Given the description of an element on the screen output the (x, y) to click on. 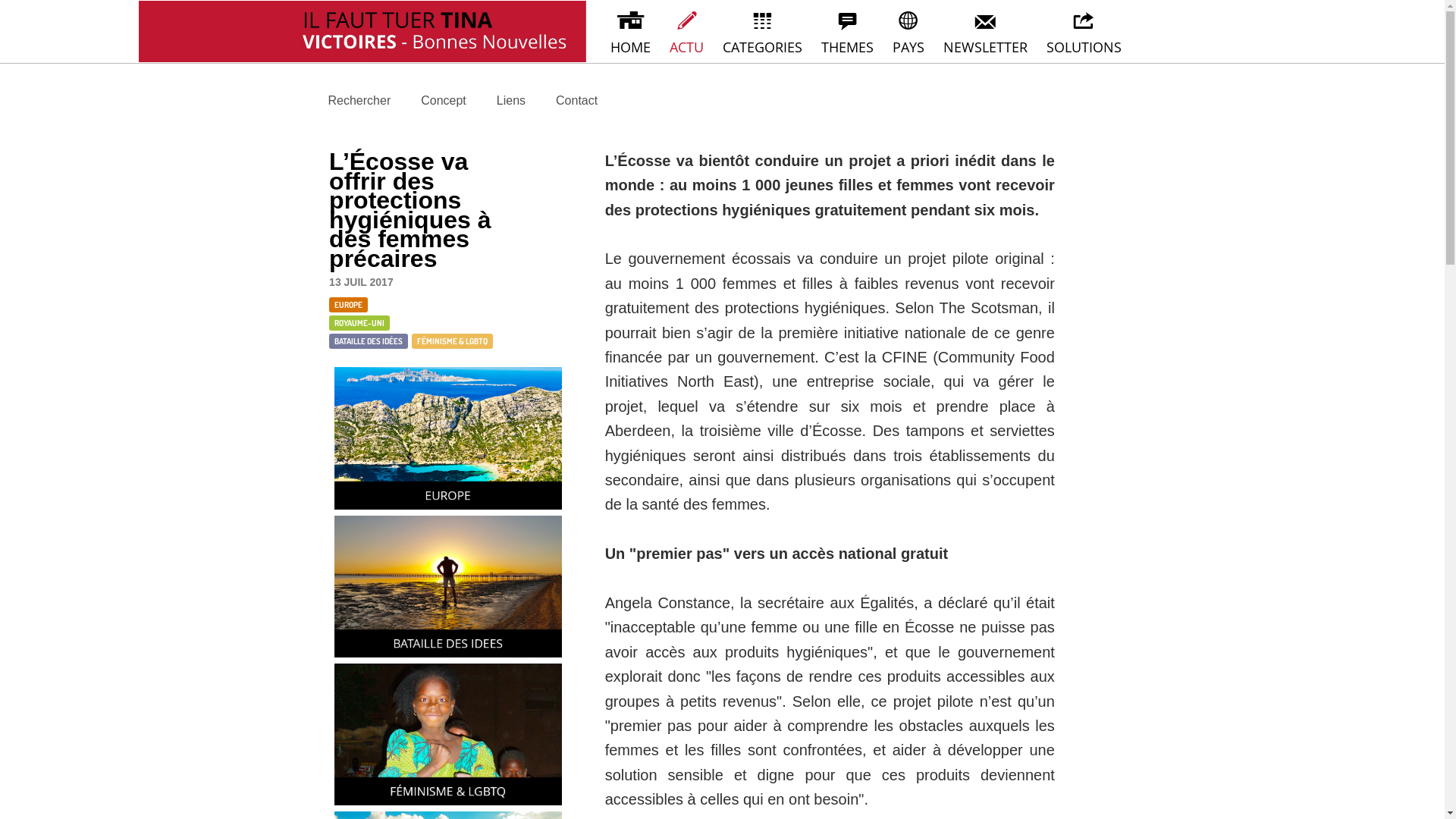
p
HOME Element type: text (629, 31)
5
CATEGORIES Element type: text (761, 31)
o
SOLUTIONS Element type: text (1084, 31)
w
PAYS Element type: text (907, 31)
b
THEMES Element type: text (846, 31)
m
NEWSLETTER Element type: text (985, 31)
Liens Element type: text (495, 100)
r
ACTU Element type: text (685, 31)
ROYAUME-UNI Element type: text (359, 322)
Concept Element type: text (428, 100)
Rechercher Element type: text (343, 100)
Contact Element type: text (561, 100)
EUROPE Element type: text (348, 304)
